Given the description of an element on the screen output the (x, y) to click on. 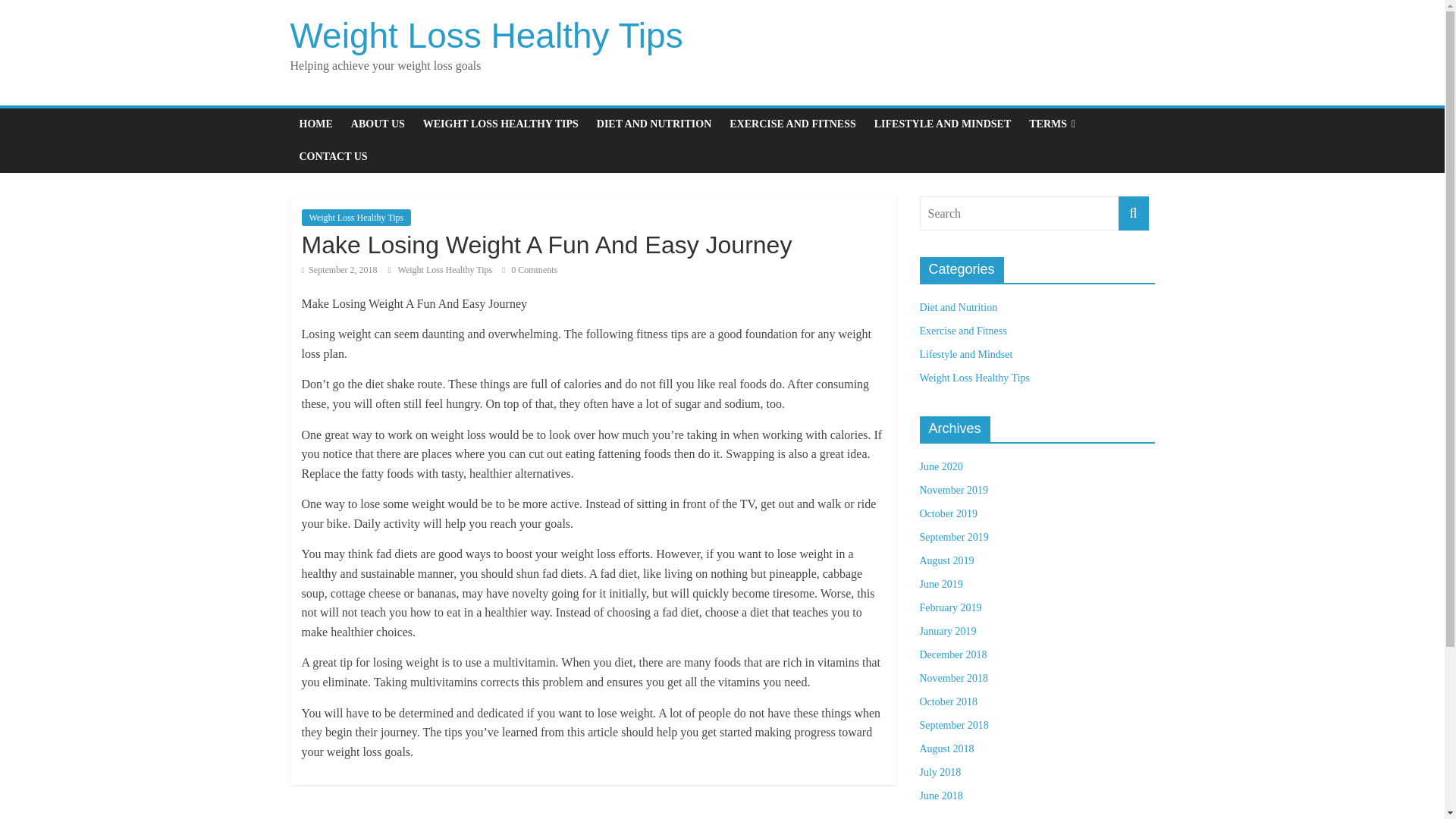
Weight Loss Healthy Tips (973, 378)
Weight Loss Healthy Tips (446, 269)
Weight Loss Healthy Tips (485, 35)
ABOUT US (377, 124)
LIFESTYLE AND MINDSET (942, 124)
Weight Loss Healthy Tips (446, 269)
December 2018 (952, 654)
CONTACT US (332, 156)
Diet and Nutrition (957, 307)
January 2019 (946, 631)
